Given the description of an element on the screen output the (x, y) to click on. 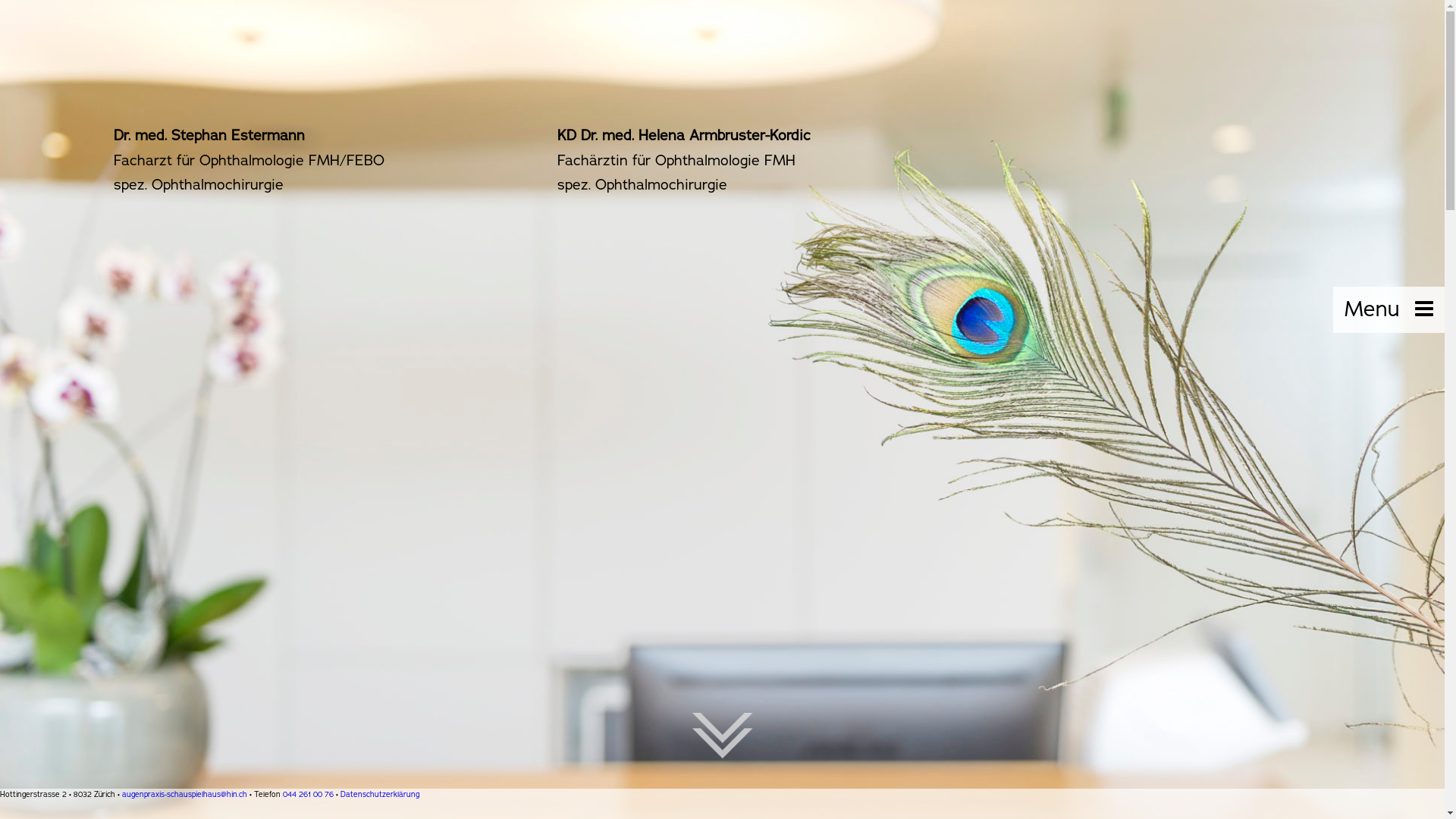
augenpraxis-schauspielhaus@hin.ch Element type: text (184, 794)
044 261 00 76 Element type: text (307, 794)
Menu Element type: text (1388, 309)
